Given the description of an element on the screen output the (x, y) to click on. 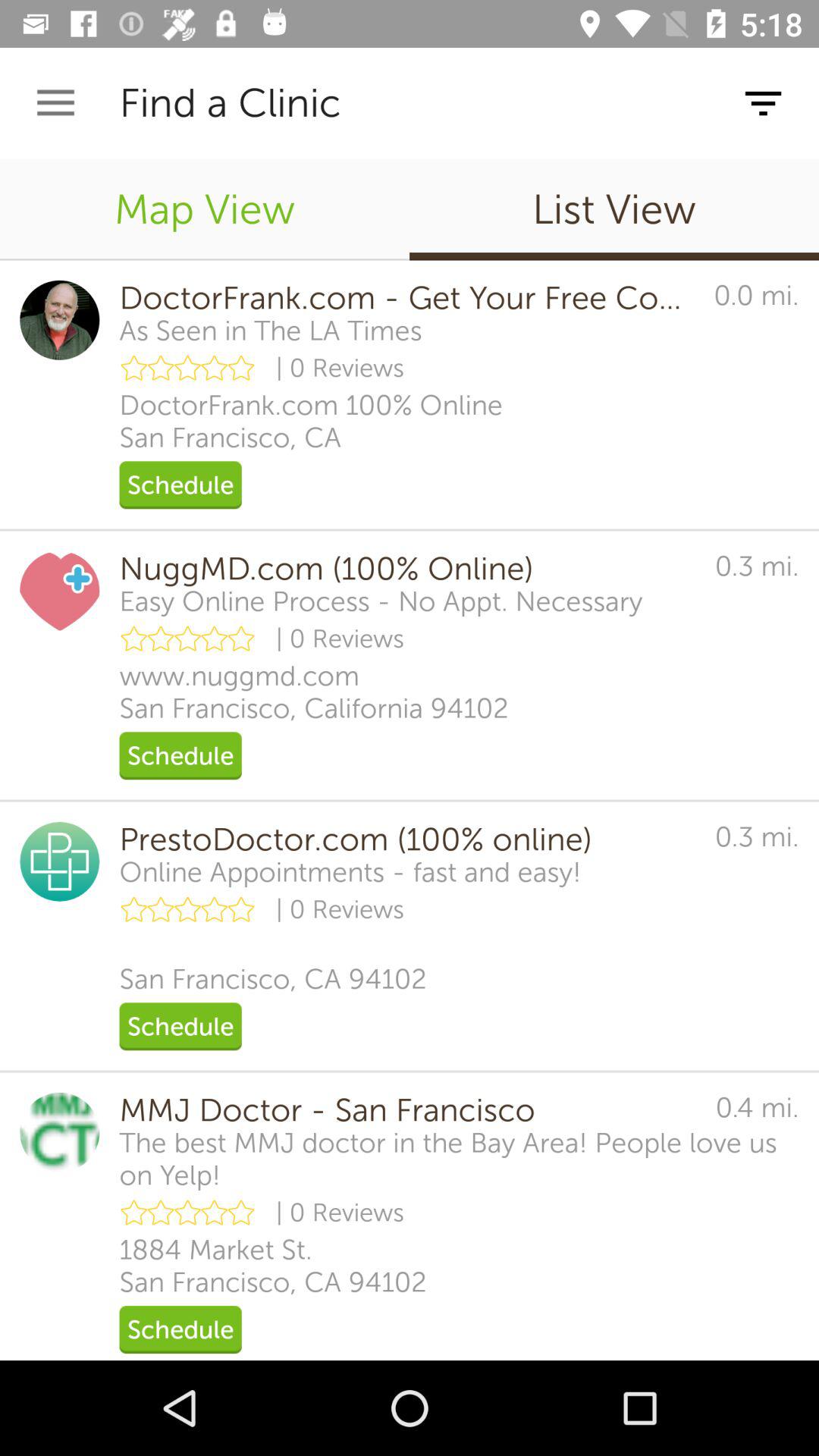
flip to prestodoctor com 100 item (407, 839)
